Given the description of an element on the screen output the (x, y) to click on. 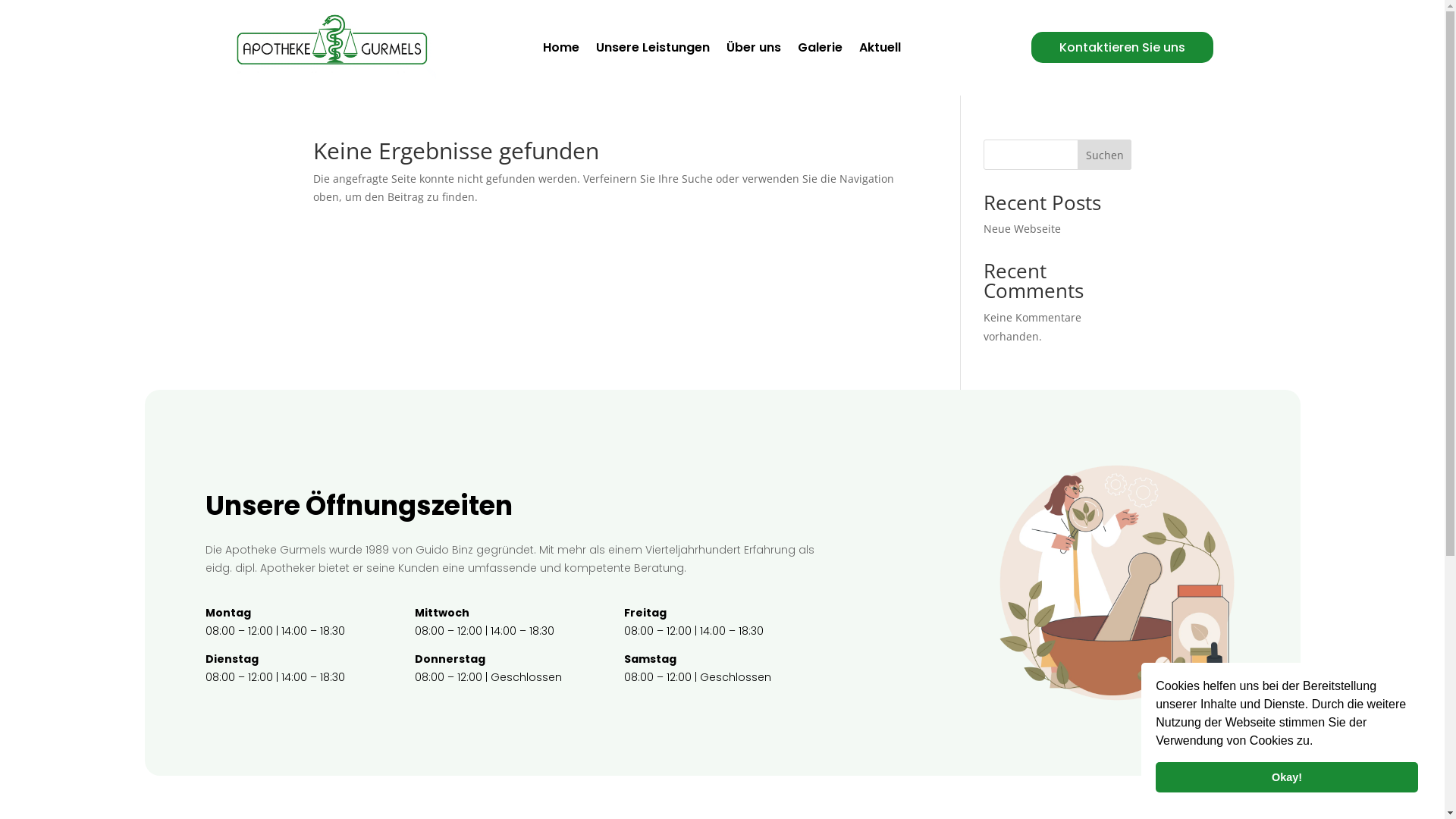
Aktuell Element type: text (879, 50)
Neue Webseite Element type: text (1021, 228)
Kontaktieren Sie uns Element type: text (1122, 46)
Galerie Element type: text (819, 50)
Sandy_Med-07_Single-09-[Konvertiert] Element type: hover (1117, 738)
Home Element type: text (560, 50)
Unsere Leistungen Element type: text (652, 50)
Suchen Element type: text (1104, 154)
Okay! Element type: text (1286, 777)
Apotheke_NeuesLogoNormal Element type: hover (333, 83)
